Given the description of an element on the screen output the (x, y) to click on. 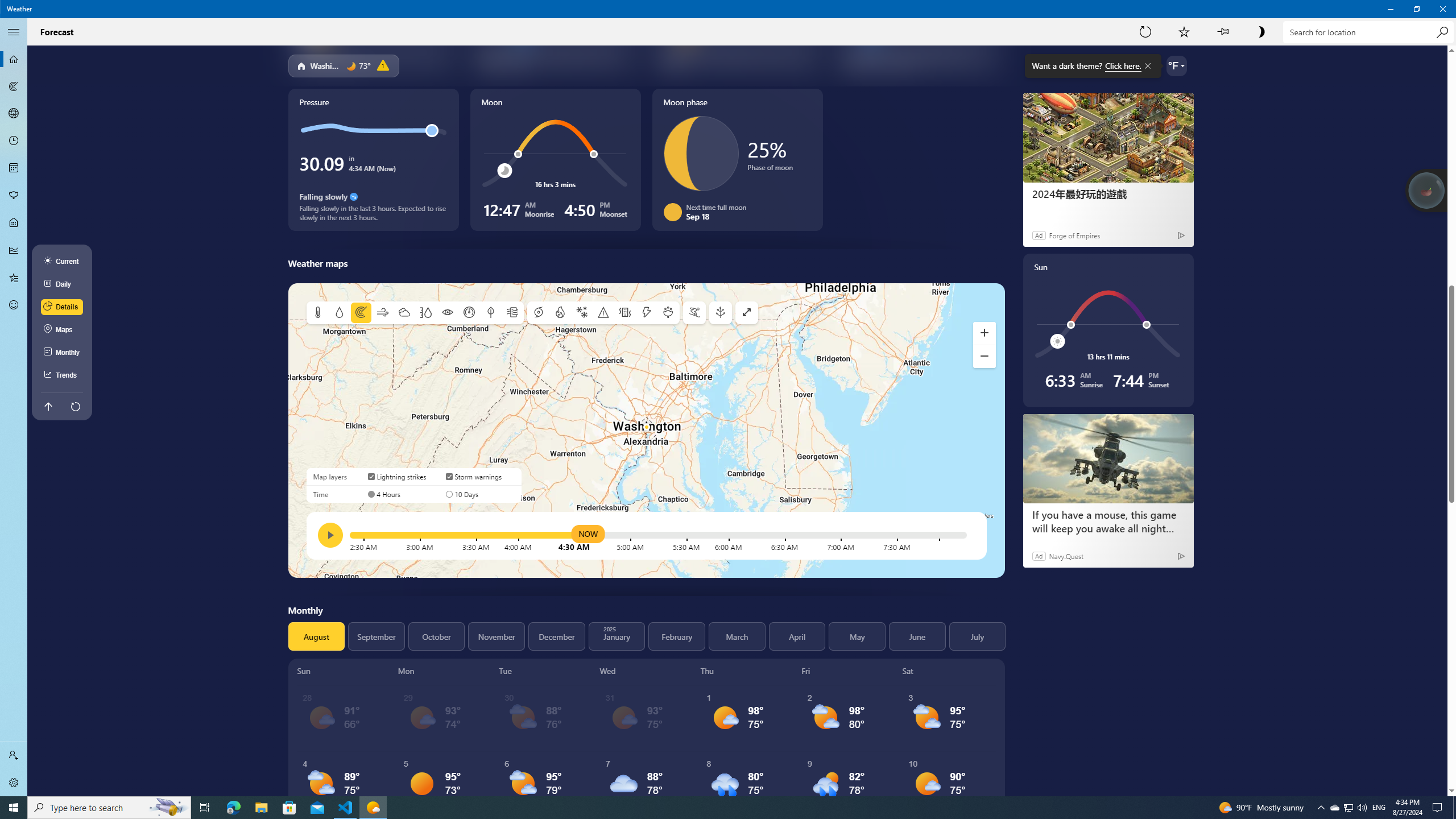
Pollen - Not Selected (13, 195)
Weather - 1 running window (373, 807)
Monthly Forecast - Not Selected (13, 167)
Maps - Not Selected (13, 85)
Close Weather (1442, 9)
Historical Weather - Not Selected (13, 249)
Pin (1222, 31)
Pollen - Not Selected (13, 195)
Turn on dark theme (1261, 31)
